Given the description of an element on the screen output the (x, y) to click on. 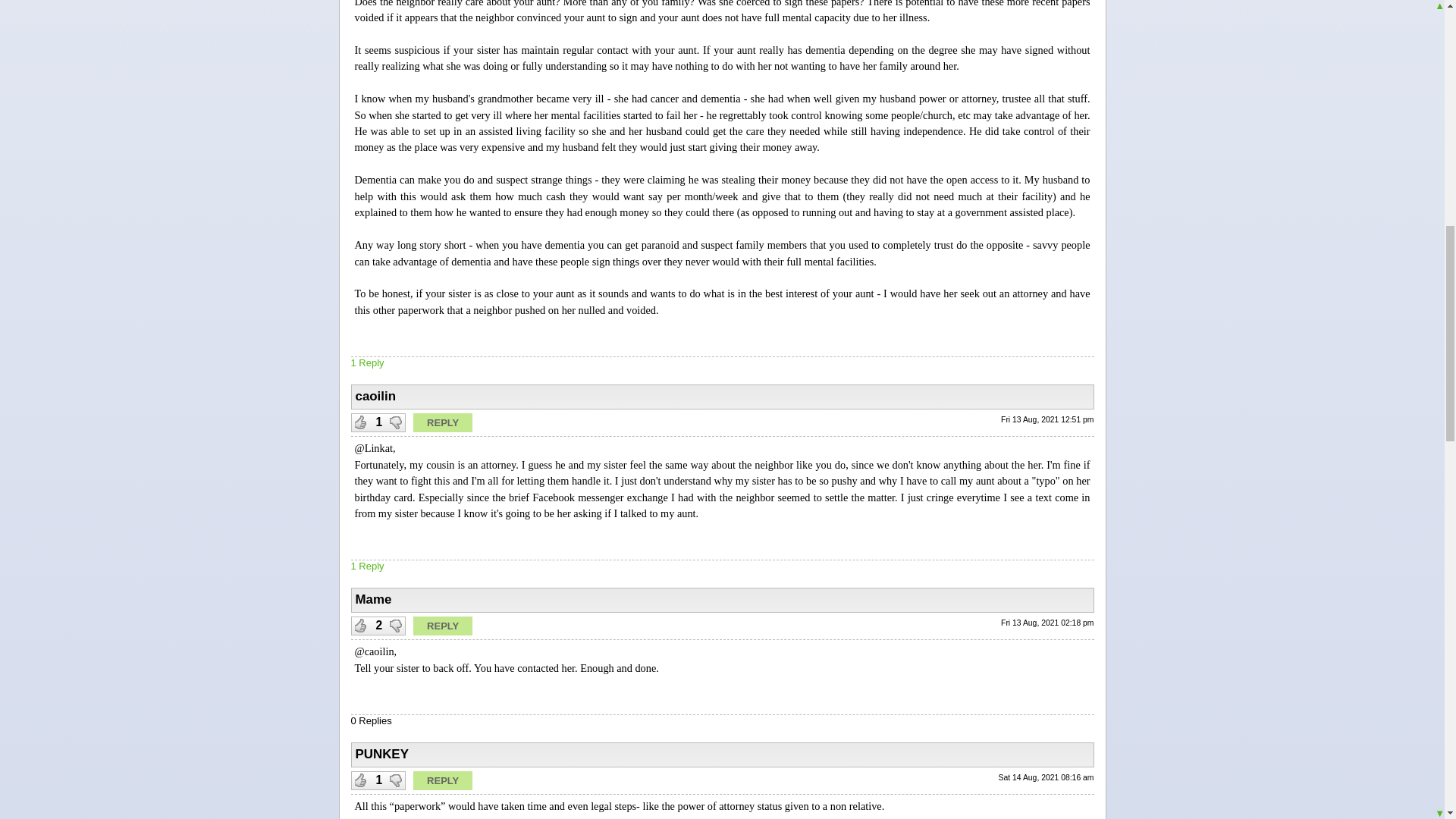
Reply (442, 780)
Reply (442, 422)
Reply (442, 625)
